Given the description of an element on the screen output the (x, y) to click on. 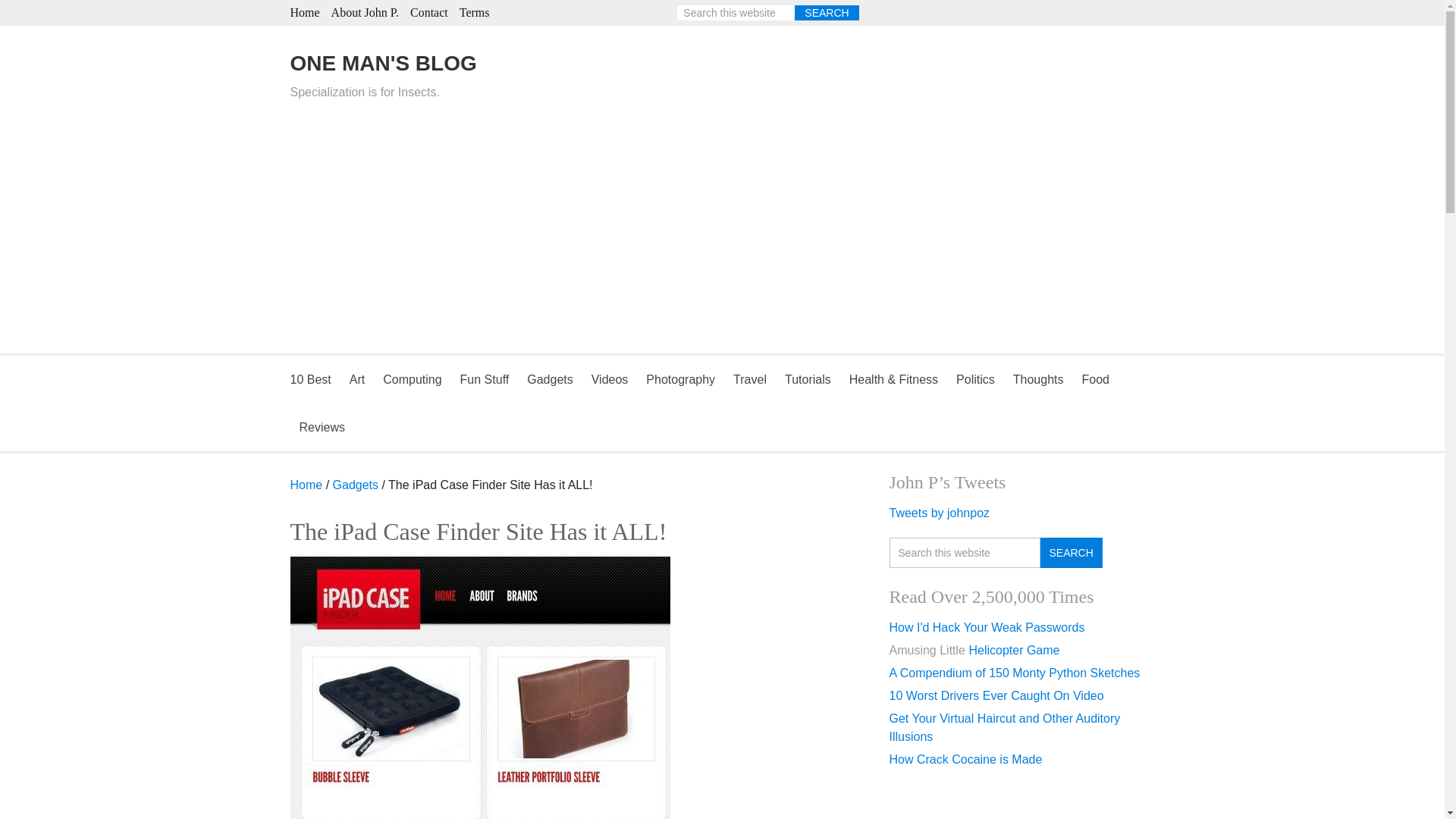
ONE MAN'S BLOG (382, 63)
Contact (429, 11)
Search (1071, 552)
10 Best (314, 379)
Tutorials (808, 379)
Travel (749, 379)
Reviews (321, 427)
Politics (975, 379)
Computing (411, 379)
Photography (680, 379)
